Given the description of an element on the screen output the (x, y) to click on. 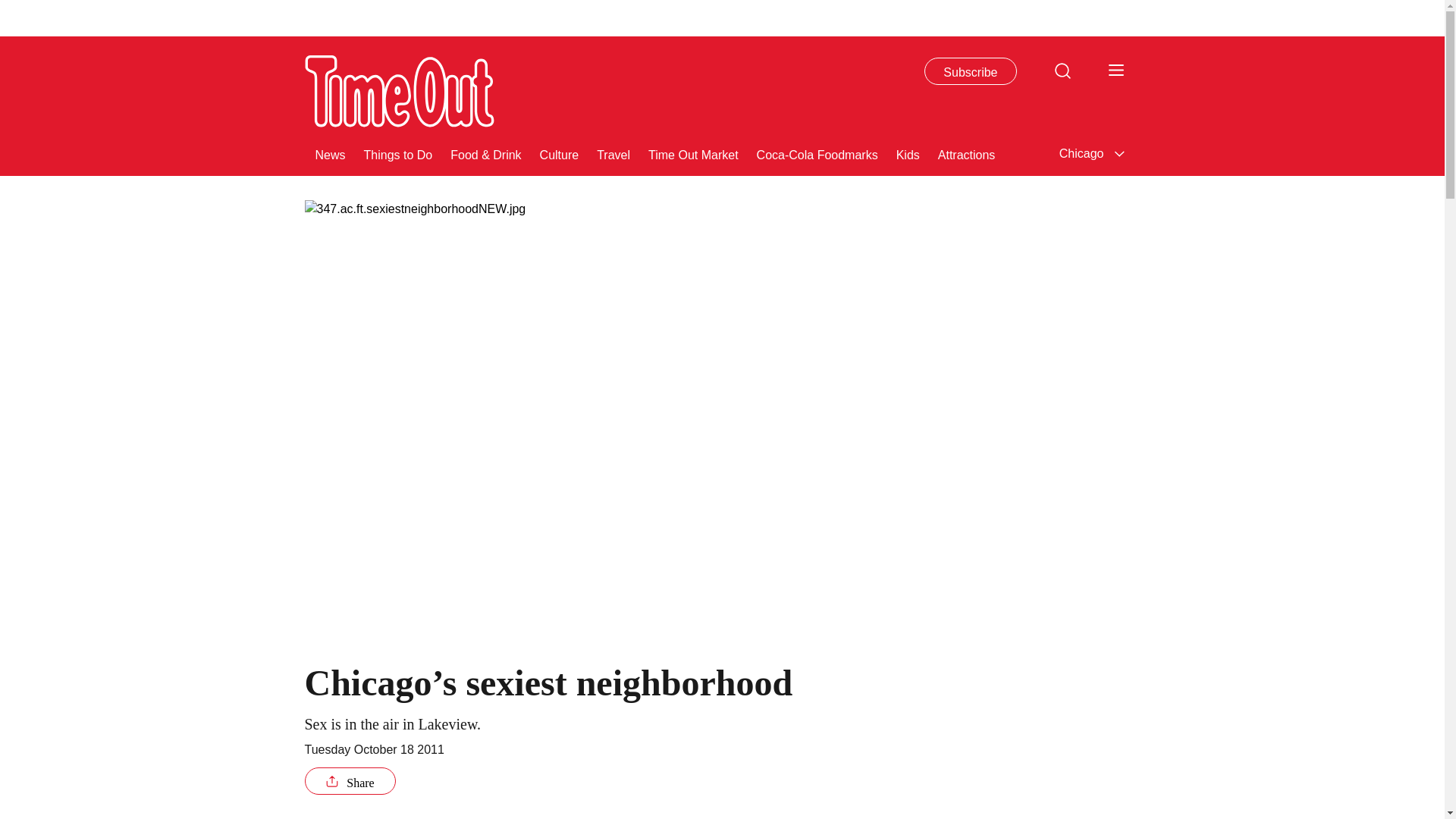
Culture (559, 153)
Attractions (966, 153)
Travel (613, 153)
News (330, 153)
Subscribe (970, 71)
Time Out Market (692, 153)
Museums (1039, 153)
Things to Do (397, 153)
Search (1061, 69)
